Given the description of an element on the screen output the (x, y) to click on. 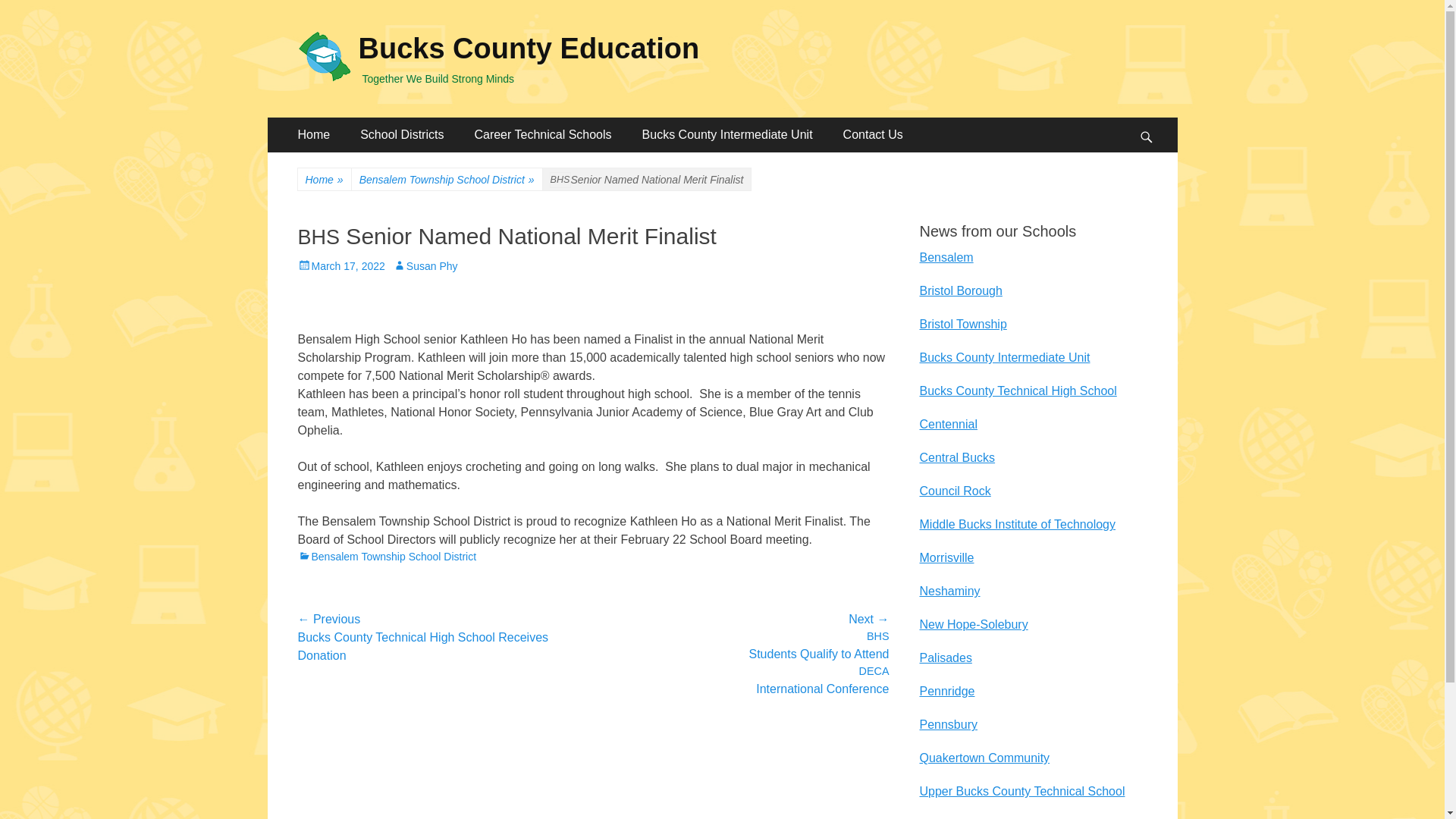
Council Rock (954, 490)
Career Technical Schools (542, 134)
School Districts (401, 134)
Bucks County Intermediate Unit (727, 134)
Upper Bucks County Technical School (1021, 790)
Palisades (944, 657)
Bristol Township (962, 323)
Bucks County Intermediate Unit (1003, 357)
Pennridge (946, 690)
Bucks County Technical High School (1017, 390)
Susan Phy (425, 265)
Central Bucks (956, 457)
Contact Us (873, 134)
Quakertown Community (983, 757)
